Given the description of an element on the screen output the (x, y) to click on. 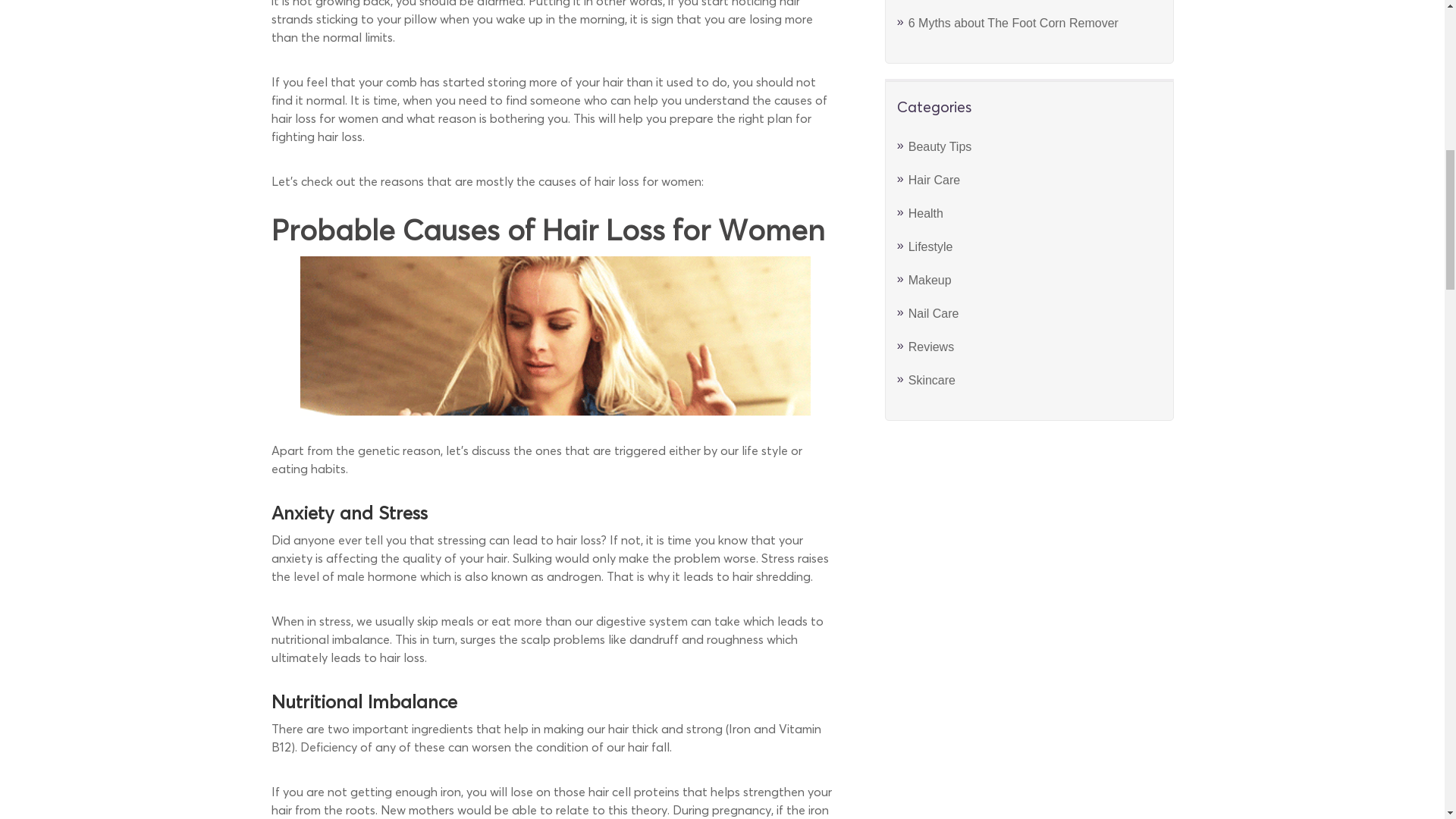
Makeup (930, 279)
Health (925, 213)
6 Myths about The Foot Corn Remover (1013, 22)
Beauty Tips (940, 146)
Hair Care (933, 179)
Lifestyle (930, 246)
